Given the description of an element on the screen output the (x, y) to click on. 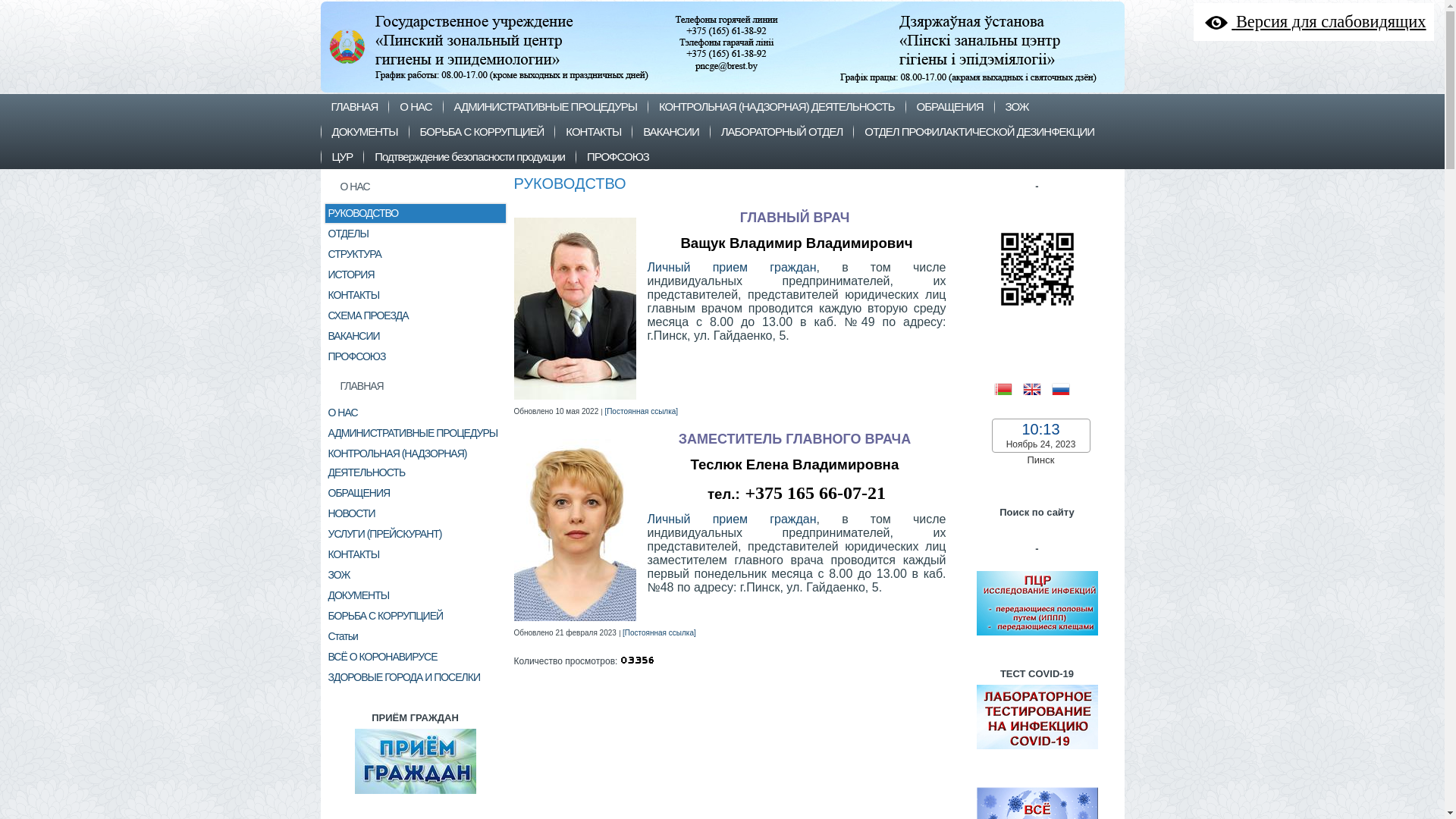
English Element type: hover (1036, 387)
- Element type: hover (1036, 637)
Russian Element type: hover (1065, 387)
Belarusian Element type: hover (1007, 387)
